Given the description of an element on the screen output the (x, y) to click on. 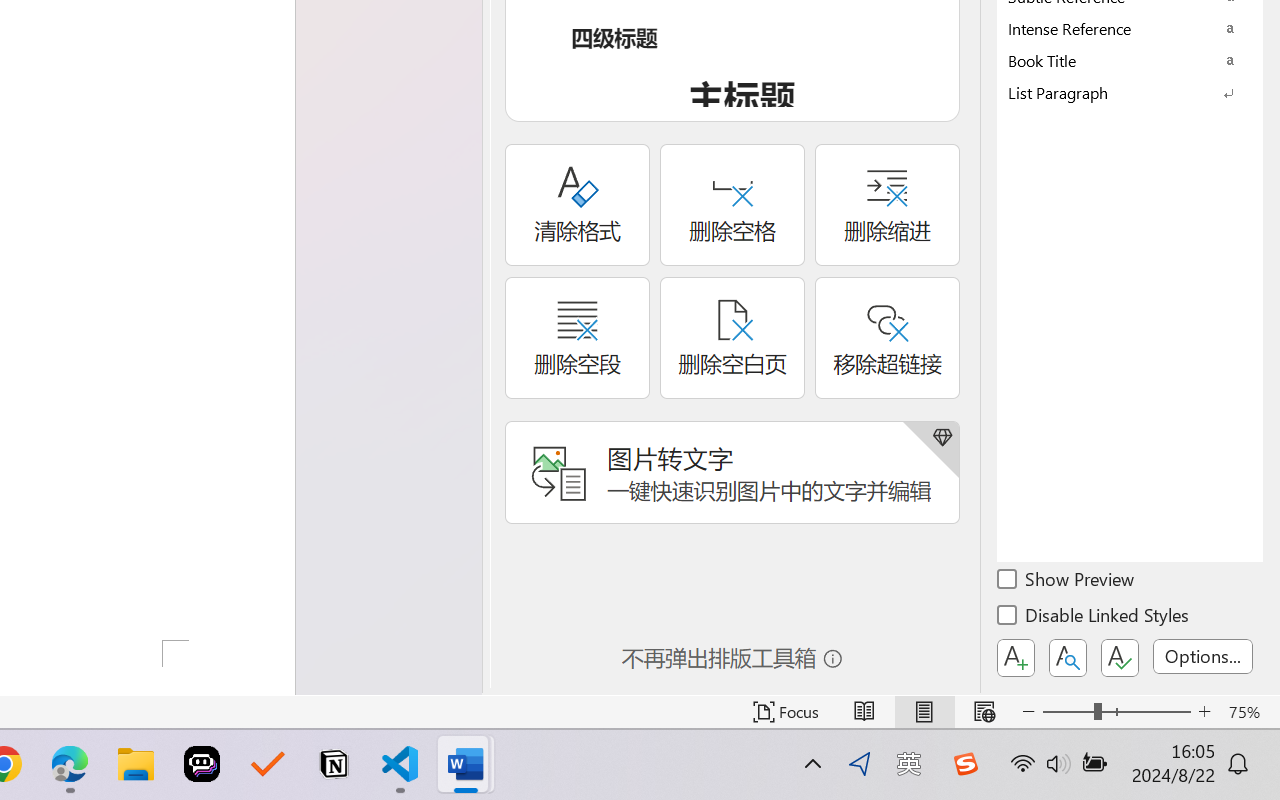
Focus  (786, 712)
